Given the description of an element on the screen output the (x, y) to click on. 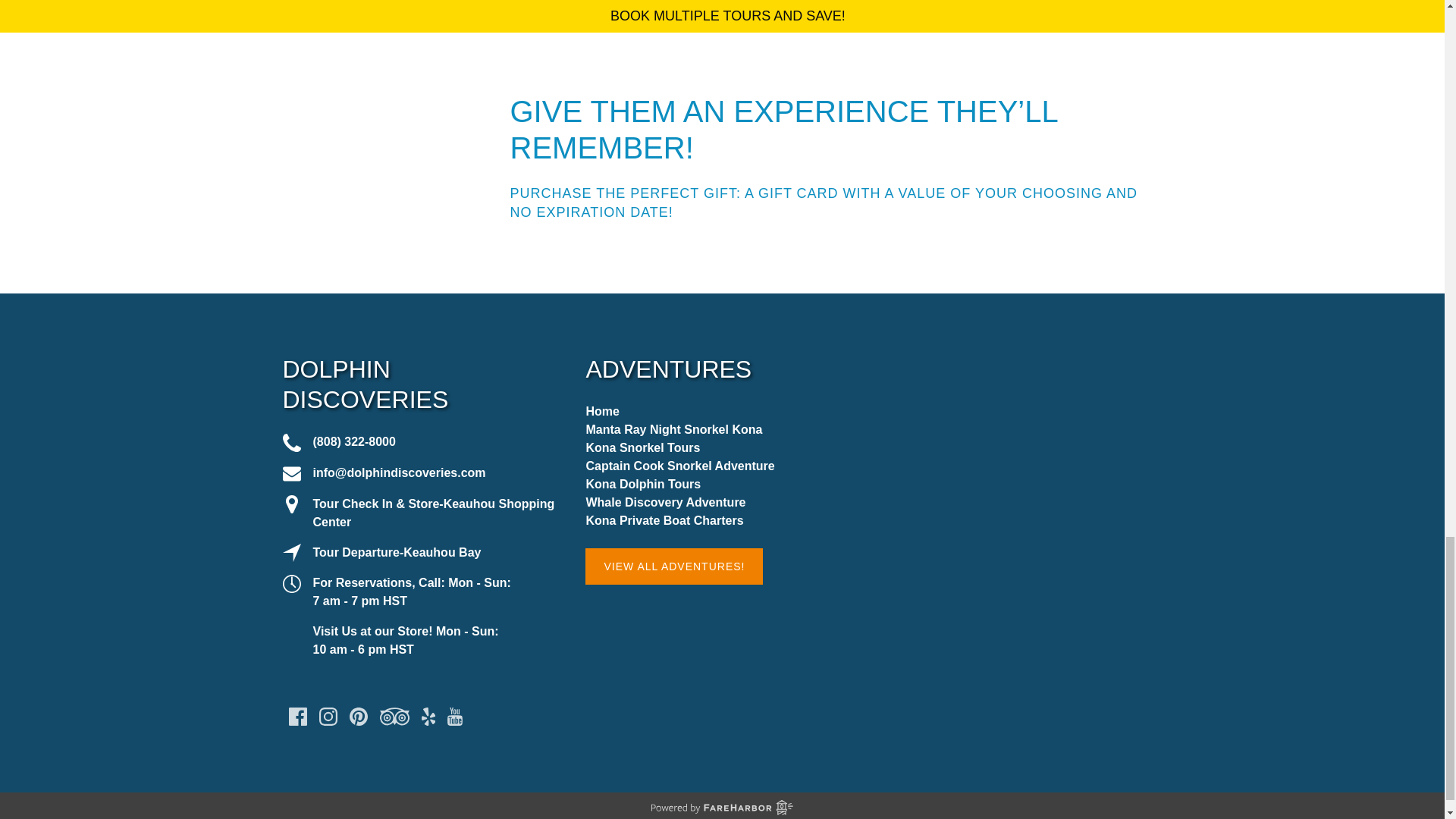
Location (290, 552)
Map Marker (290, 504)
Clock (290, 583)
Envelope (290, 474)
Phone (290, 443)
